Given the description of an element on the screen output the (x, y) to click on. 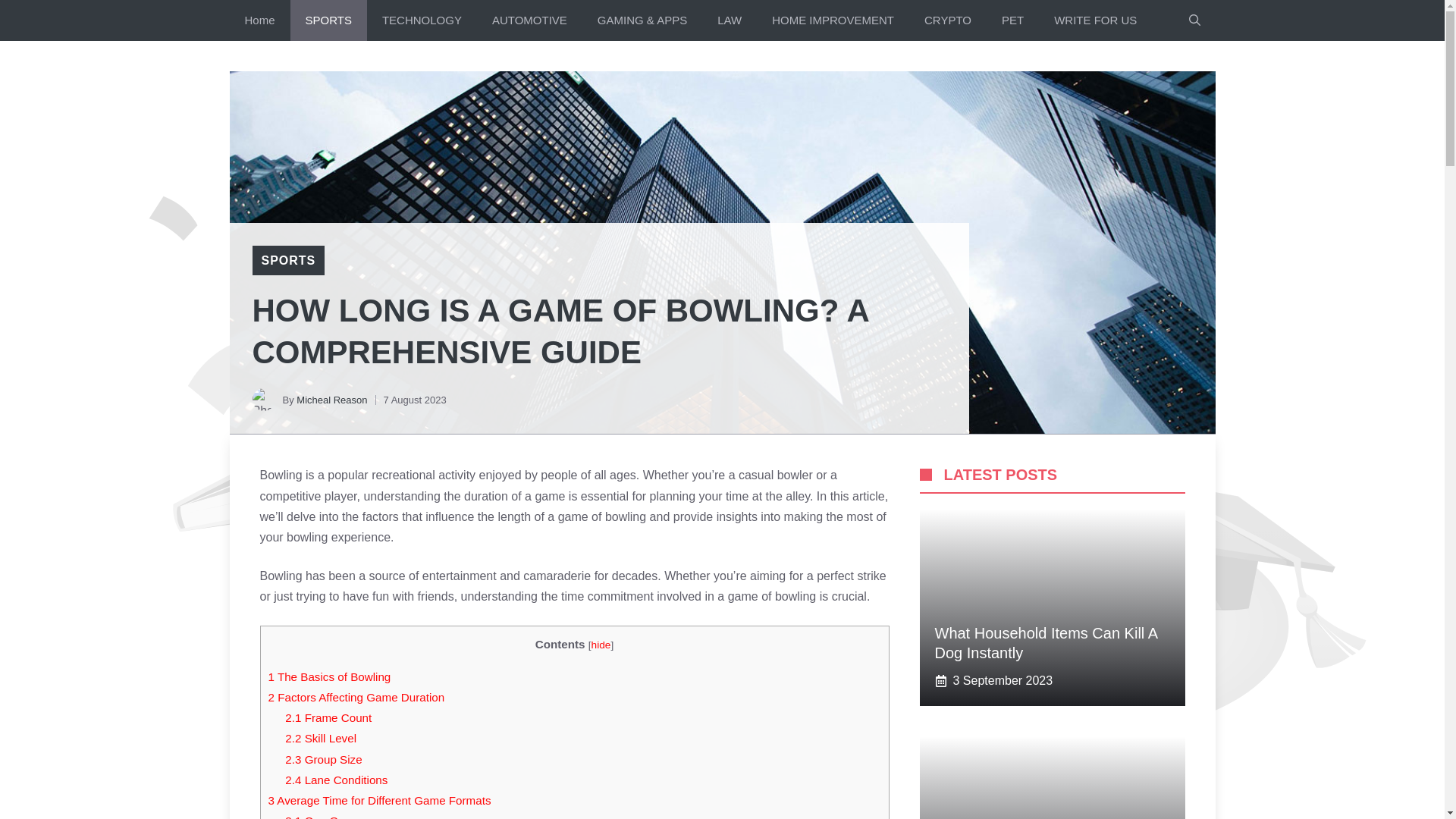
AUTOMOTIVE (529, 20)
LAW (729, 20)
WRITE FOR US (1095, 20)
2.3 Group Size (323, 758)
SPORTS (287, 259)
hide (601, 644)
1 The Basics of Bowling (329, 676)
SPORTS (327, 20)
Micheal Reason (331, 399)
3 Average Time for Different Game Formats (379, 799)
3.1 One Game (323, 816)
2.4 Lane Conditions (336, 779)
HOME IMPROVEMENT (832, 20)
TECHNOLOGY (421, 20)
CRYPTO (947, 20)
